Given the description of an element on the screen output the (x, y) to click on. 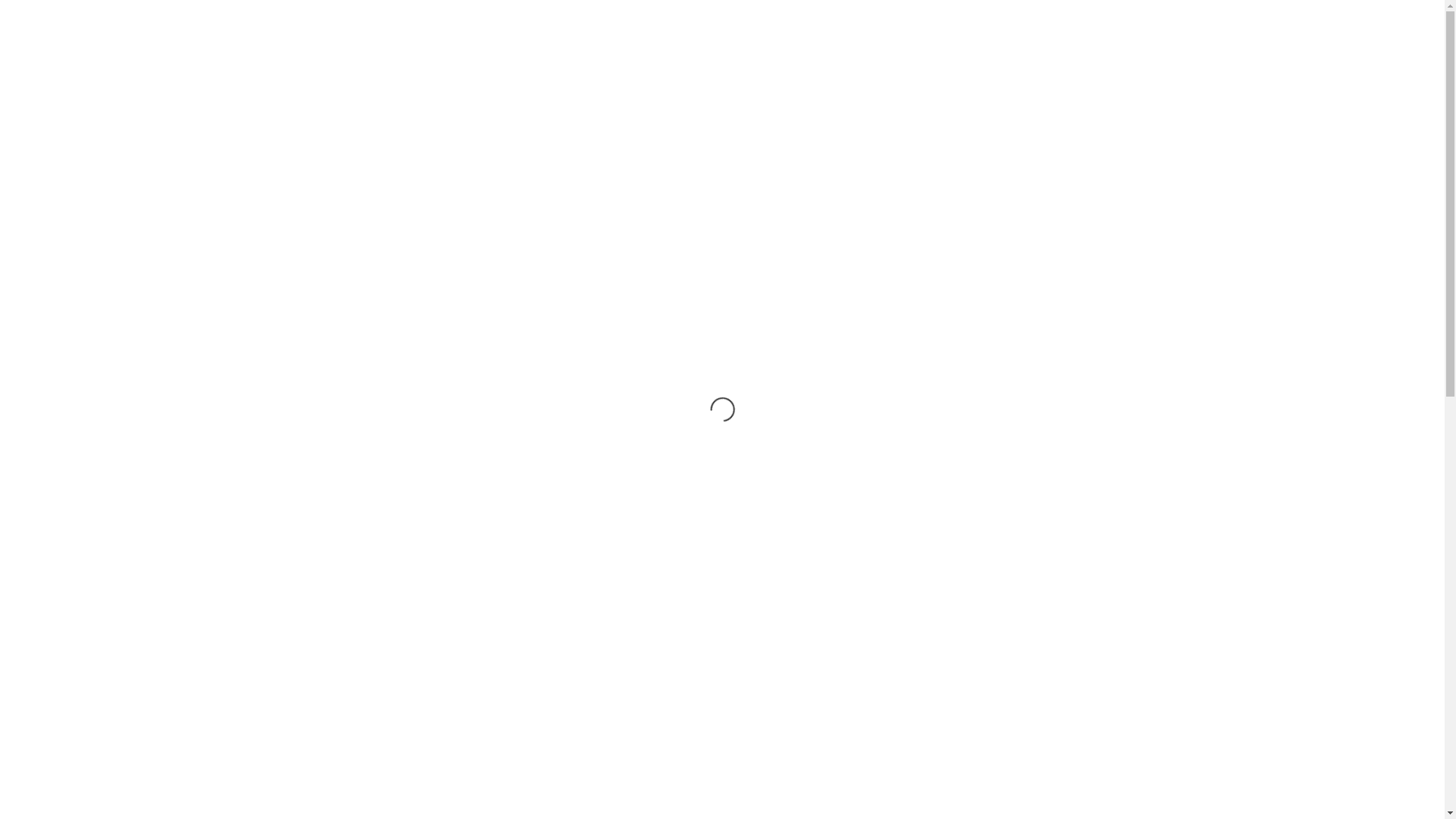
Hire a team Element type: text (757, 222)
You Got Game? Get a Business Plan Element type: text (1033, 376)
ABOUT Element type: text (542, 40)
Game Studio Element type: text (562, 222)
GAME STUDIO Element type: text (845, 319)
Productivity tips for Game Developers Element type: text (1037, 504)
StartUp Element type: text (986, 222)
SPACES Element type: text (722, 40)
Pantone Cup Element type: text (1030, 580)
Inspiration Element type: text (846, 222)
Search Element type: text (1149, 293)
BLOG Element type: text (945, 40)
NEWS Element type: text (638, 335)
STARTUP Element type: text (690, 335)
Coworking Element type: text (467, 222)
COMMUNITY Element type: text (631, 40)
October 2017 Element type: text (988, 747)
August 2017 Element type: text (986, 792)
NEWS Element type: text (876, 40)
Glass Flower Holder Element type: text (1035, 671)
News Element type: text (920, 222)
Gamers Tips Element type: text (661, 222)
ARTSHINE LAUNCH PAD + ACCELERATOR Element type: text (743, 310)
September 2017 Element type: text (993, 769)
Alarm Clock Element type: text (1017, 625)
EVENTS Element type: text (801, 40)
Glass Flower Holder Element type: text (1043, 648)
Modern Cement Pot Planter Element type: text (1047, 602)
CONTACTS Element type: text (1025, 40)
COWORKING Element type: text (755, 319)
